Given the description of an element on the screen output the (x, y) to click on. 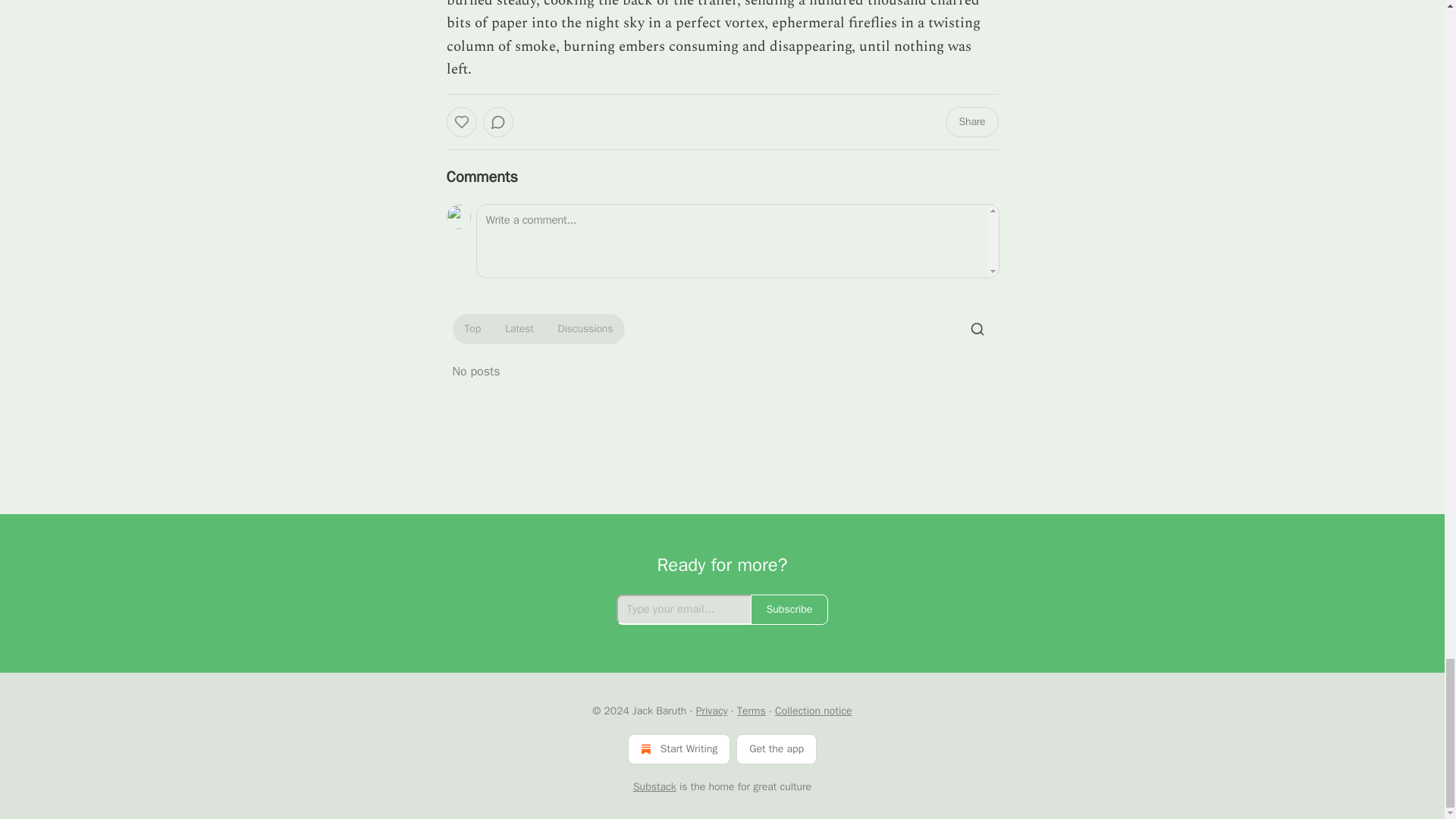
Discussions (585, 328)
Privacy (711, 710)
Top (471, 328)
Subscribe (789, 609)
Collection notice (812, 710)
Share (970, 122)
Latest (518, 328)
Terms (750, 710)
